Given the description of an element on the screen output the (x, y) to click on. 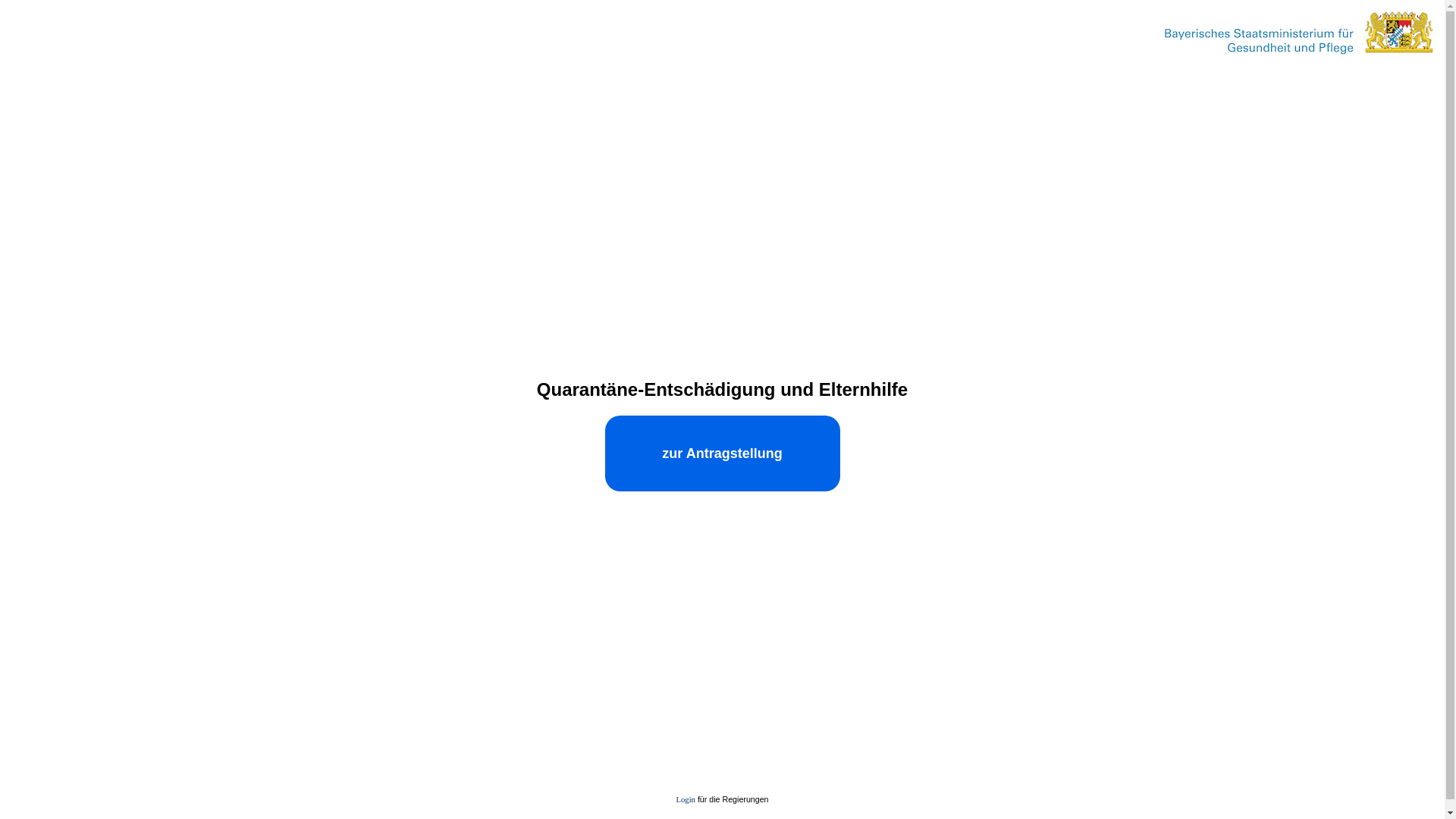
zur Antragstellung Element type: text (722, 453)
Login Element type: text (684, 799)
